Given the description of an element on the screen output the (x, y) to click on. 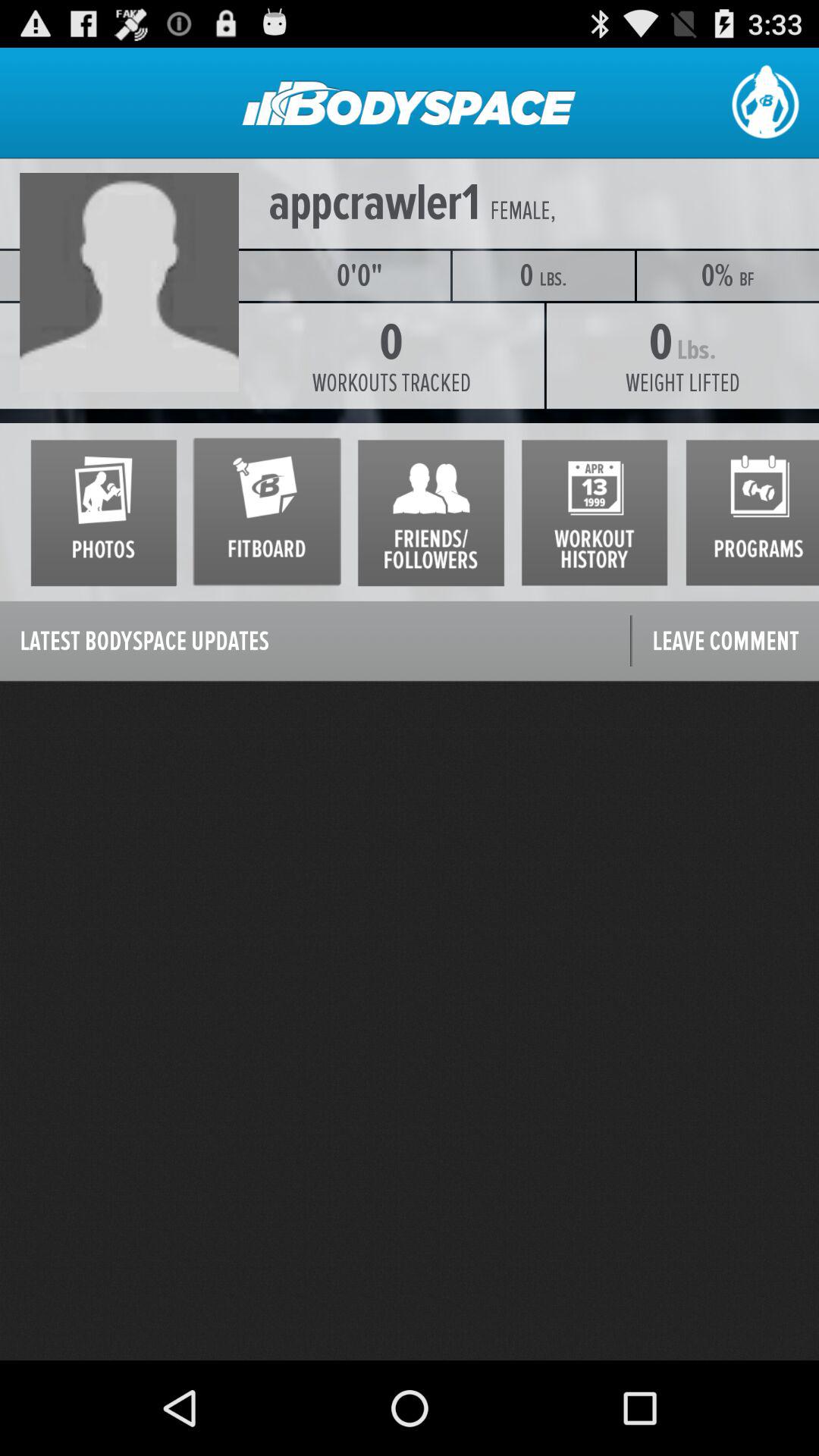
open the icon above the 0% item (684, 210)
